Given the description of an element on the screen output the (x, y) to click on. 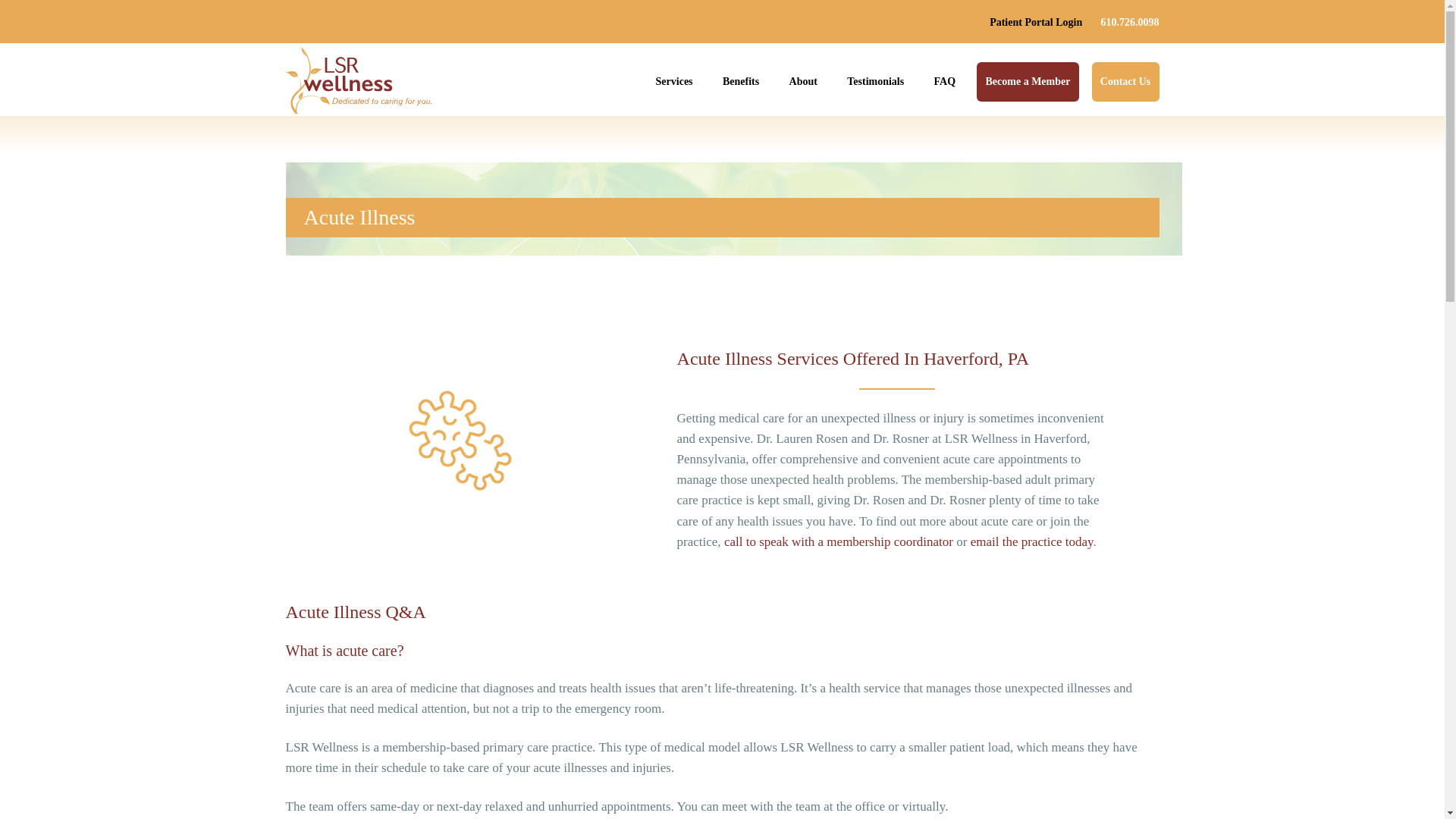
Testimonials (875, 81)
email the practice today (1032, 541)
Contact Us (1125, 81)
Benefits (740, 81)
Become a Member (1027, 81)
Patient Portal Login (1035, 21)
Services (674, 81)
610.726.0098 (1129, 21)
call to speak with a membership coordinator (838, 541)
